Given the description of an element on the screen output the (x, y) to click on. 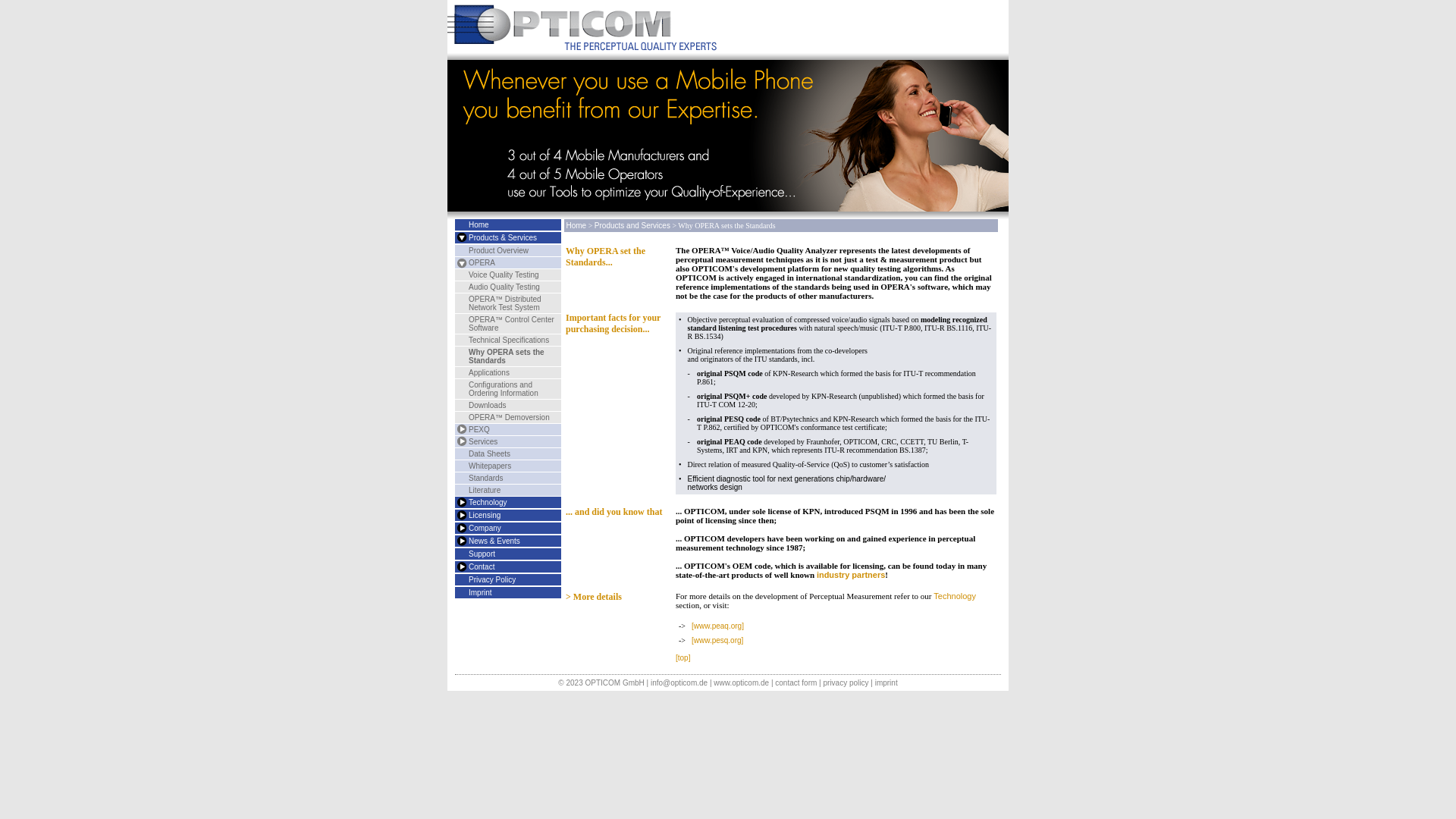
Company Element type: text (484, 528)
PEXQ Element type: hover (459, 429)
Standards Element type: text (485, 477)
Contact Element type: text (481, 566)
News & Events Element type: text (494, 540)
  Element type: text (459, 566)
Technology Element type: text (954, 595)
info@opticom.de Element type: text (678, 682)
privacy policy Element type: text (845, 682)
Products and Services Element type: hover (459, 237)
Downloads Element type: text (486, 405)
OPERA Element type: text (481, 262)
Services Element type: hover (459, 441)
Company Element type: hover (459, 528)
industry partners Element type: text (850, 574)
Technology Element type: text (487, 502)
Privacy Policy Element type: text (491, 579)
Home Element type: text (575, 225)
[www.pesq.org] Element type: text (717, 640)
Contact Element type: hover (459, 566)
  Element type: text (459, 429)
Whitepapers Element type: text (489, 465)
  Element type: text (459, 262)
Licensing Element type: hover (459, 515)
www.opticom.de Element type: text (740, 682)
Home Element type: text (478, 224)
Configurations and Ordering Information Element type: text (503, 388)
  Element type: text (459, 502)
  Element type: text (459, 528)
Voice Quality Testing Element type: text (503, 274)
  Element type: text (459, 237)
contact form Element type: text (795, 682)
Licensing Element type: text (484, 515)
Data Sheets Element type: text (489, 453)
OPERA Element type: hover (459, 262)
Audio Quality Testing Element type: text (503, 286)
Products and Services Element type: text (632, 225)
Services Element type: text (482, 441)
imprint Element type: text (886, 682)
Applications Element type: text (488, 372)
Products & Services Element type: text (502, 237)
News and Events Element type: hover (459, 540)
Support Element type: text (481, 553)
PEXQ Element type: text (478, 429)
  Element type: text (459, 441)
Literature Element type: text (484, 490)
  Element type: text (459, 540)
Product Overview Element type: text (498, 250)
  Element type: text (459, 515)
Technical Specifications Element type: text (508, 339)
Technology Element type: hover (459, 502)
Imprint Element type: text (480, 592)
[top] Element type: text (682, 657)
[www.peaq.org] Element type: text (717, 625)
Why OPERA sets the Standards Element type: text (506, 356)
